Given the description of an element on the screen output the (x, y) to click on. 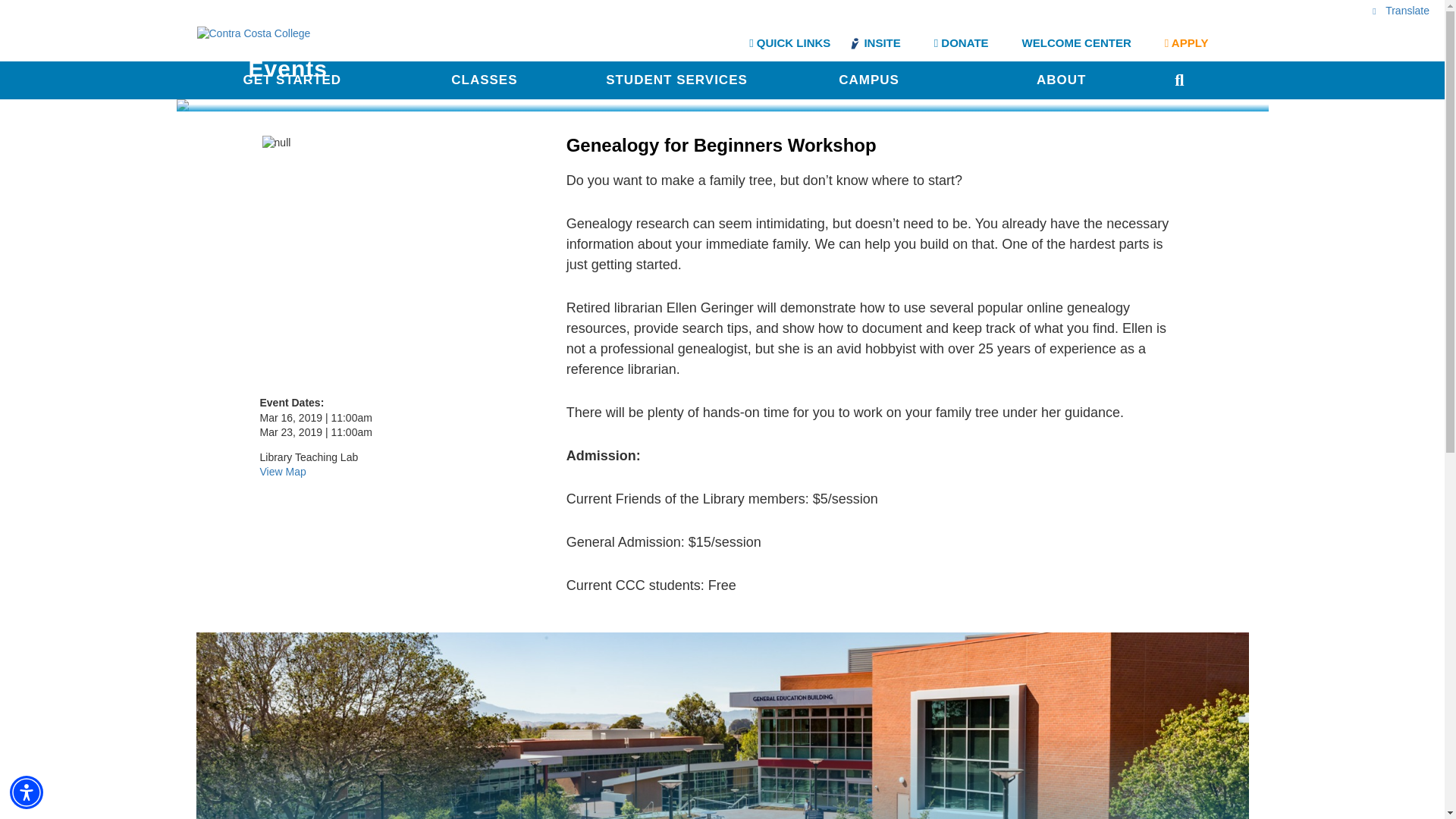
Accessibility Menu (26, 792)
